Given the description of an element on the screen output the (x, y) to click on. 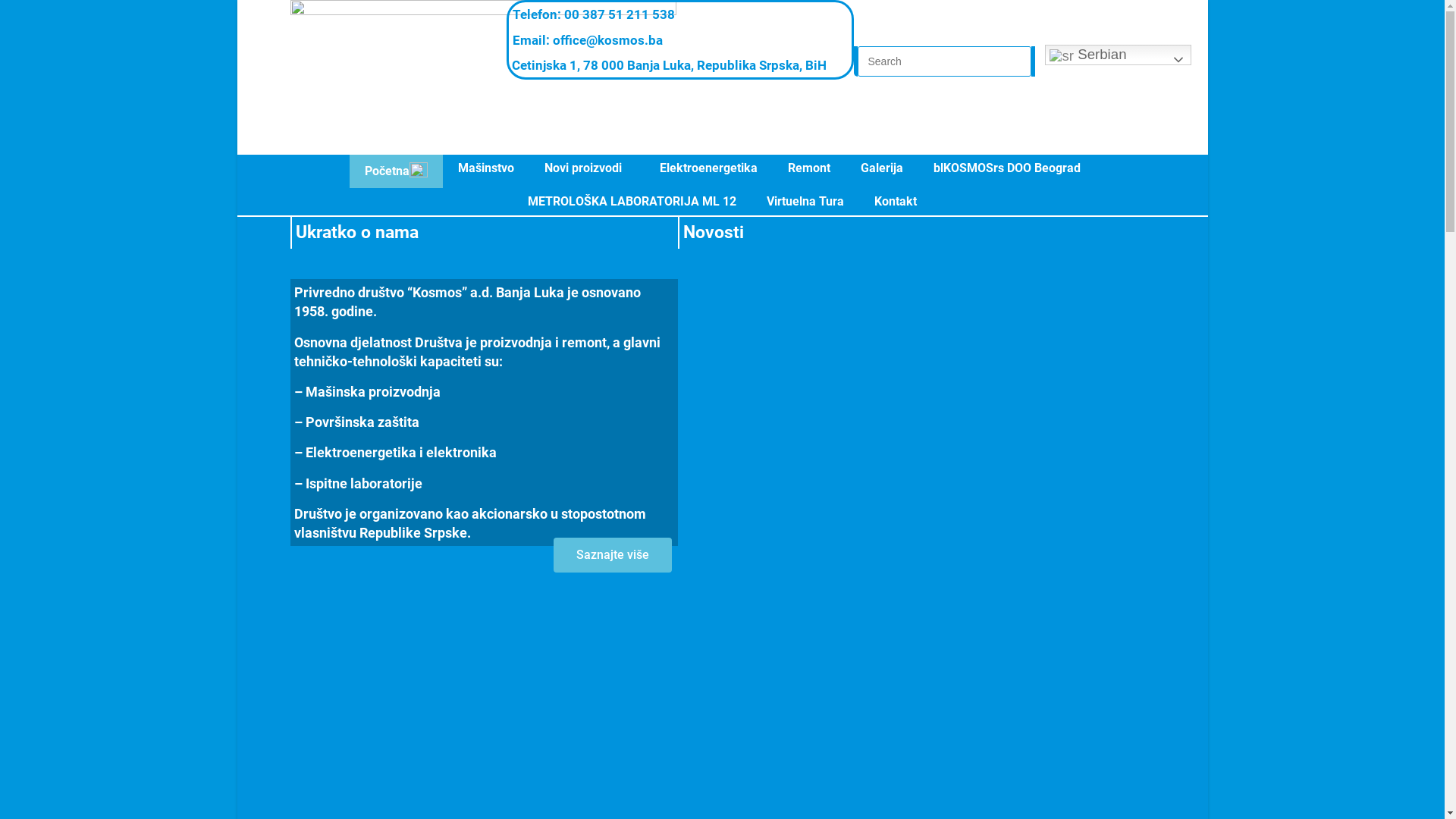
Elektroenergetika Element type: text (708, 168)
Galerija Element type: text (880, 168)
Kontakt Element type: text (895, 201)
Novi proizvodi Element type: text (586, 168)
Virtuelna Tura Element type: text (805, 201)
Serbian Element type: text (1117, 54)
Remont Element type: text (807, 168)
blKOSMOSrs DOO Beograd Element type: text (1006, 168)
